Given the description of an element on the screen output the (x, y) to click on. 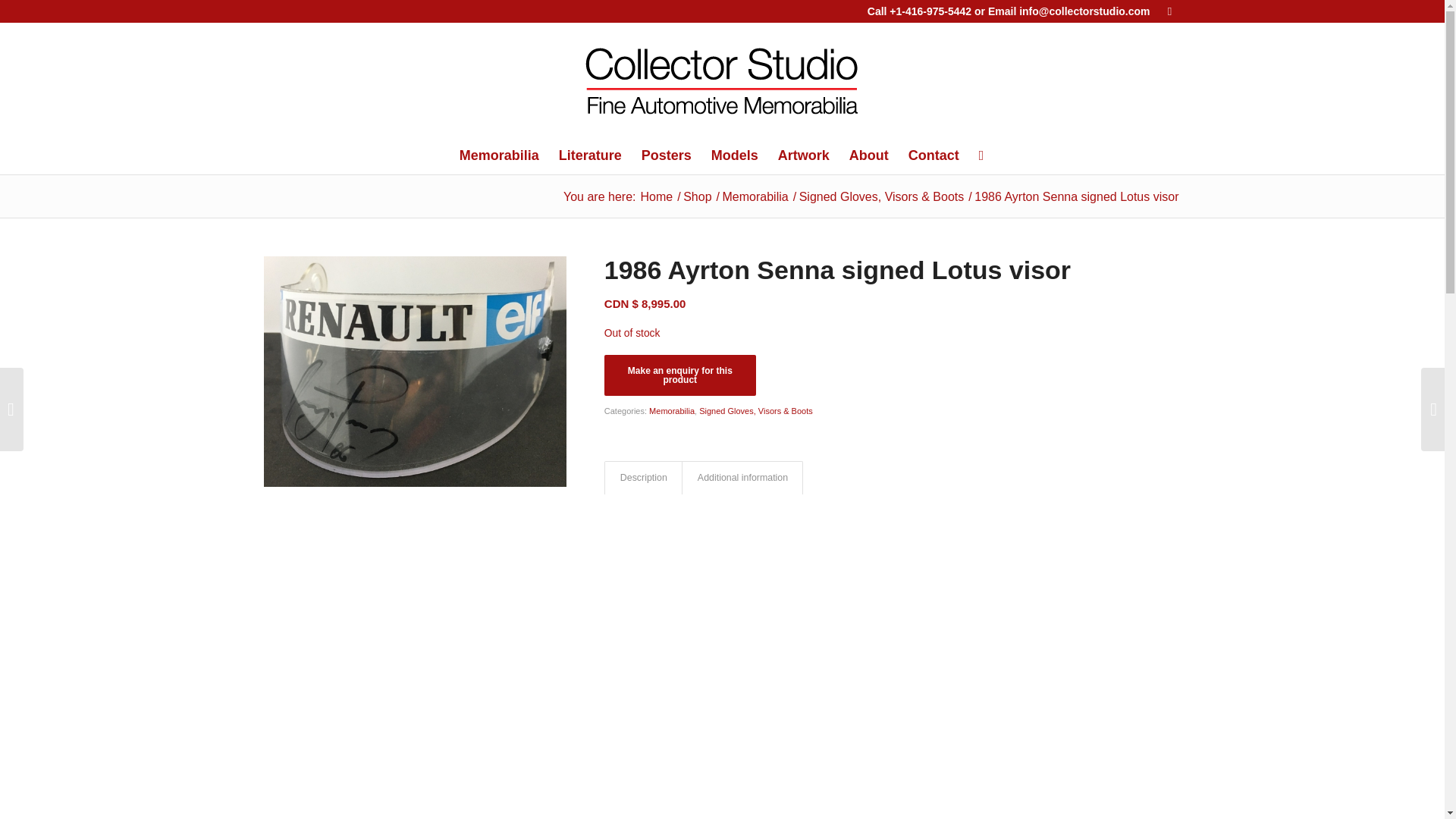
Instagram (1169, 11)
Memorabilia (498, 155)
clearvisor86 (414, 766)
Make an enquiry for this product (679, 374)
Memorabilia (755, 196)
Literature (589, 155)
Shop (697, 196)
Posters (666, 155)
Collector Studio - Fine Automotive Memorabilia (656, 196)
Models (734, 155)
